Given the description of an element on the screen output the (x, y) to click on. 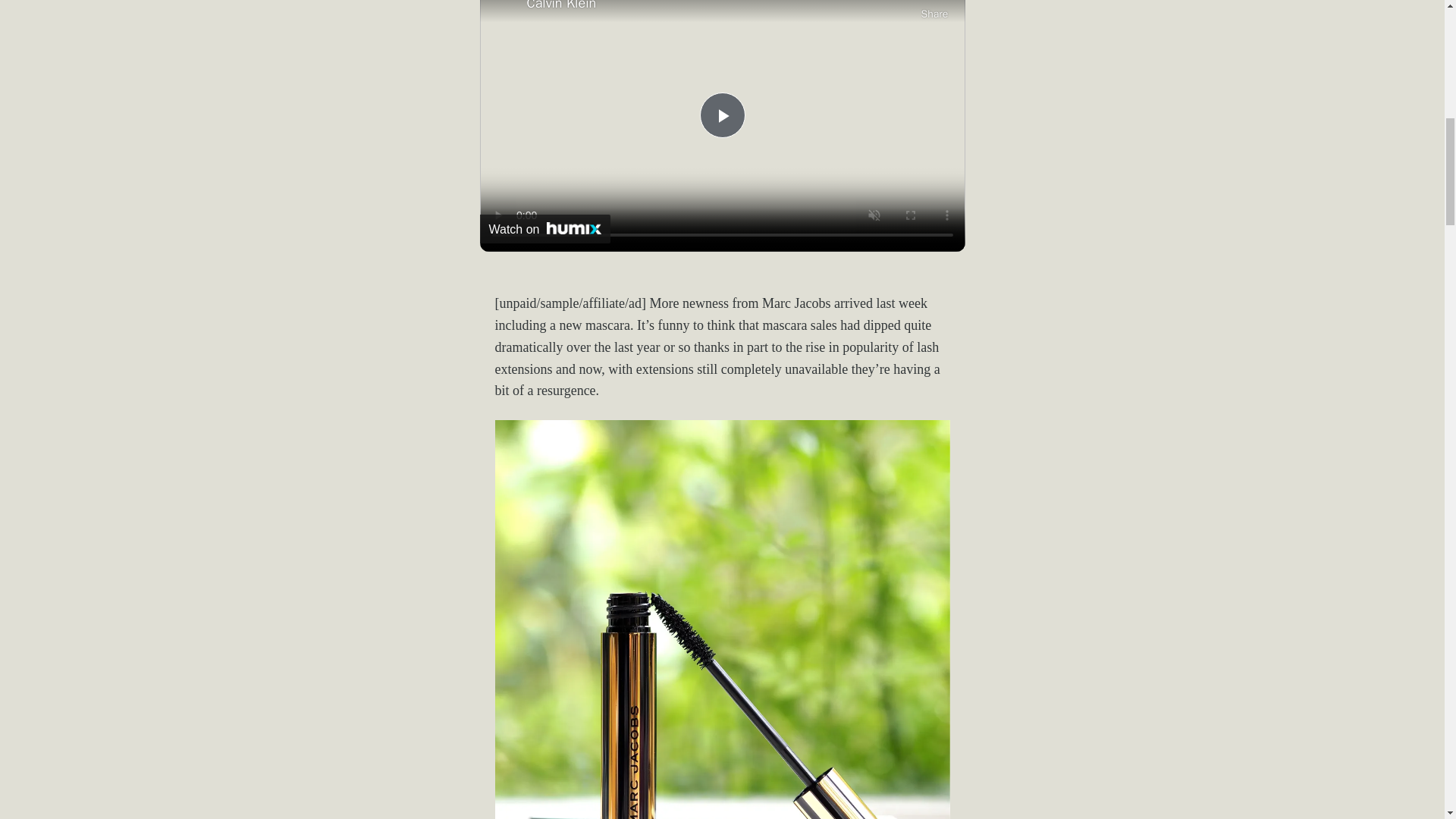
share (933, 11)
Play Video (721, 115)
Calvin Klein (718, 7)
Watch on (544, 228)
Share (933, 11)
Play Video (721, 115)
